Given the description of an element on the screen output the (x, y) to click on. 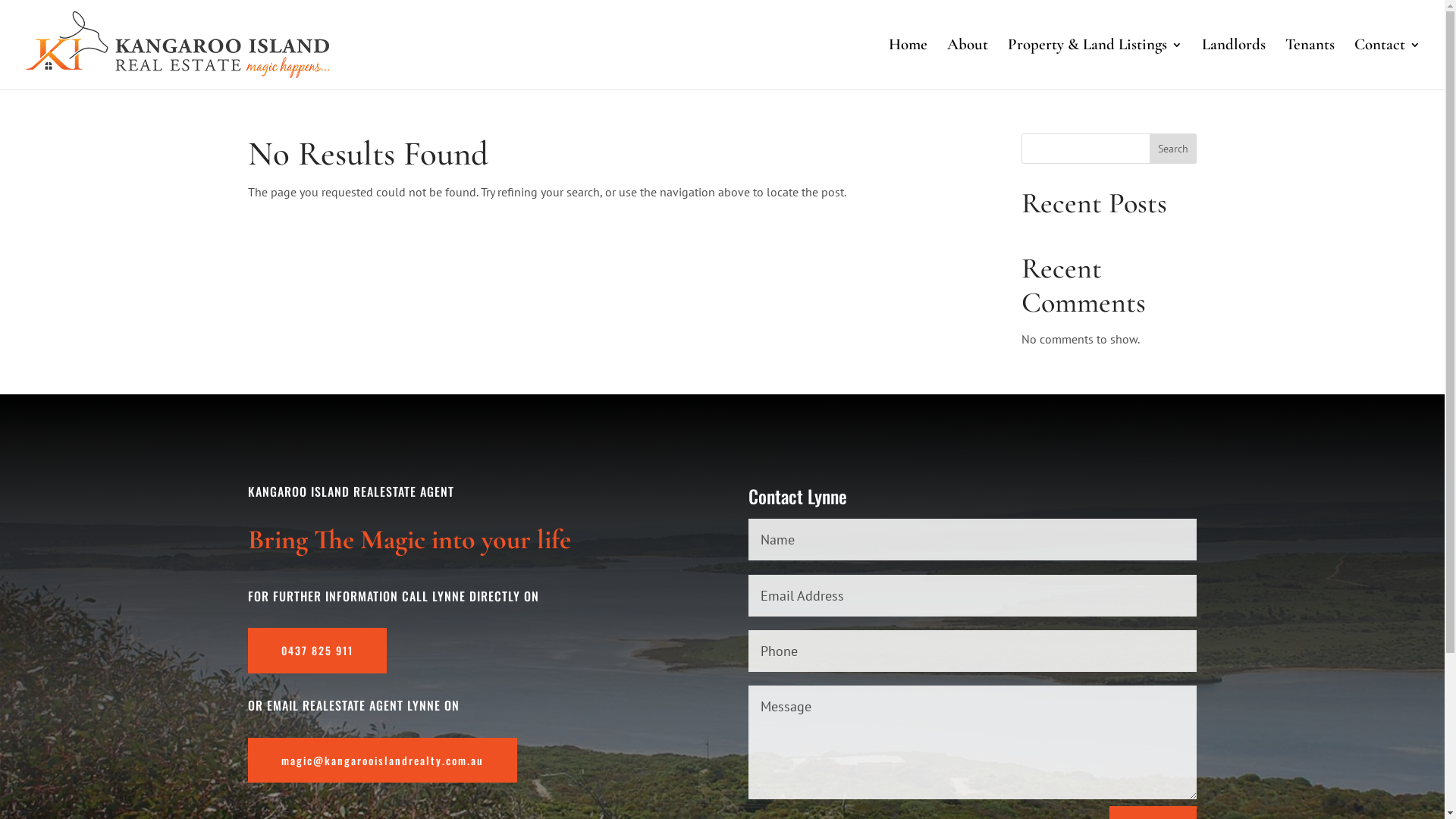
Landlords Element type: text (1233, 64)
About Element type: text (967, 64)
0437 825 911 Element type: text (316, 650)
Tenants Element type: text (1309, 64)
Search Element type: text (1172, 148)
magic@kangarooislandrealty.com.au Element type: text (382, 760)
Contact Element type: text (1387, 64)
Home Element type: text (907, 64)
Property & Land Listings Element type: text (1094, 64)
